Given the description of an element on the screen output the (x, y) to click on. 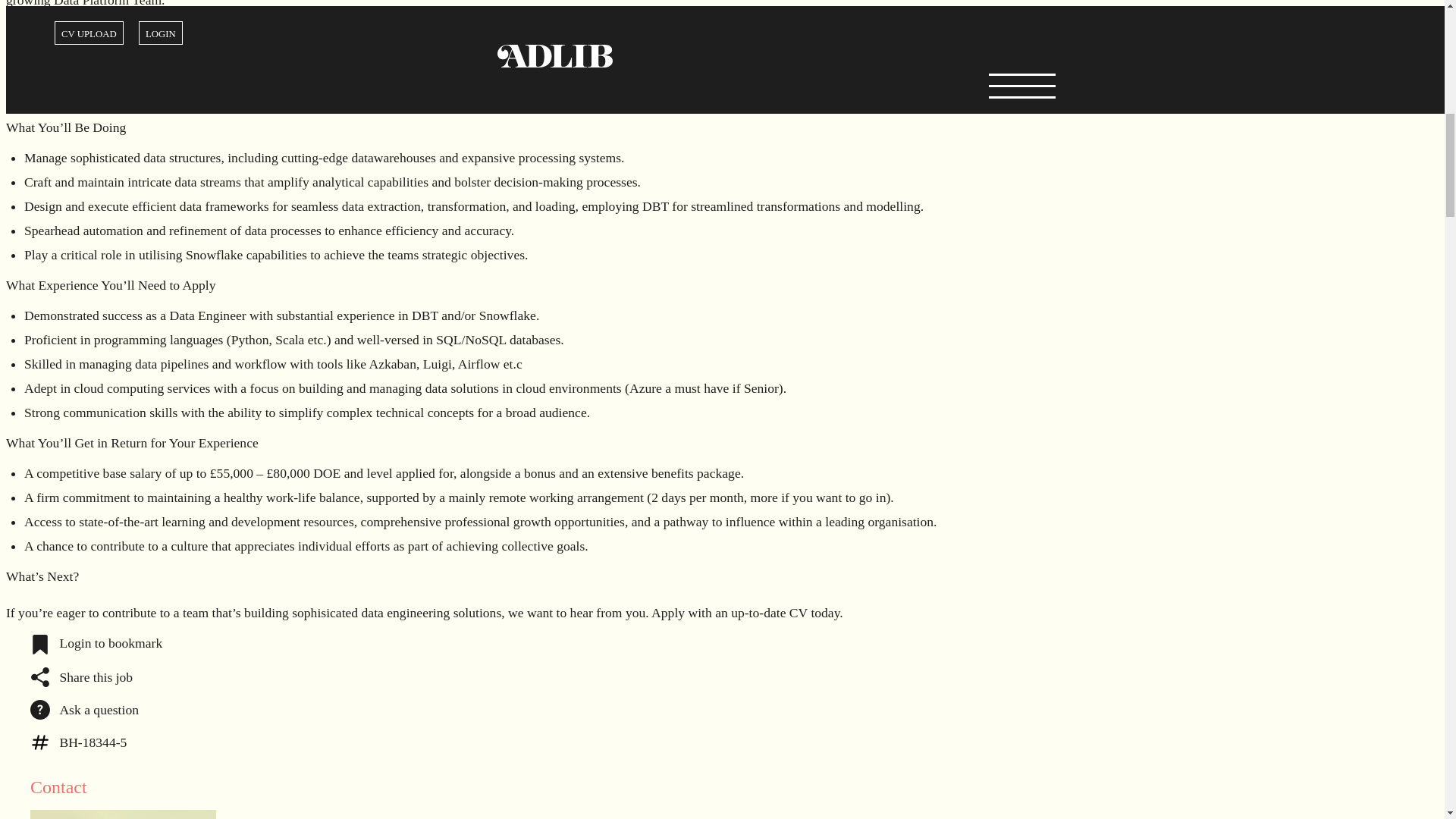
Ask a question (84, 708)
Login to bookmark (95, 642)
Share this job (81, 675)
